Given the description of an element on the screen output the (x, y) to click on. 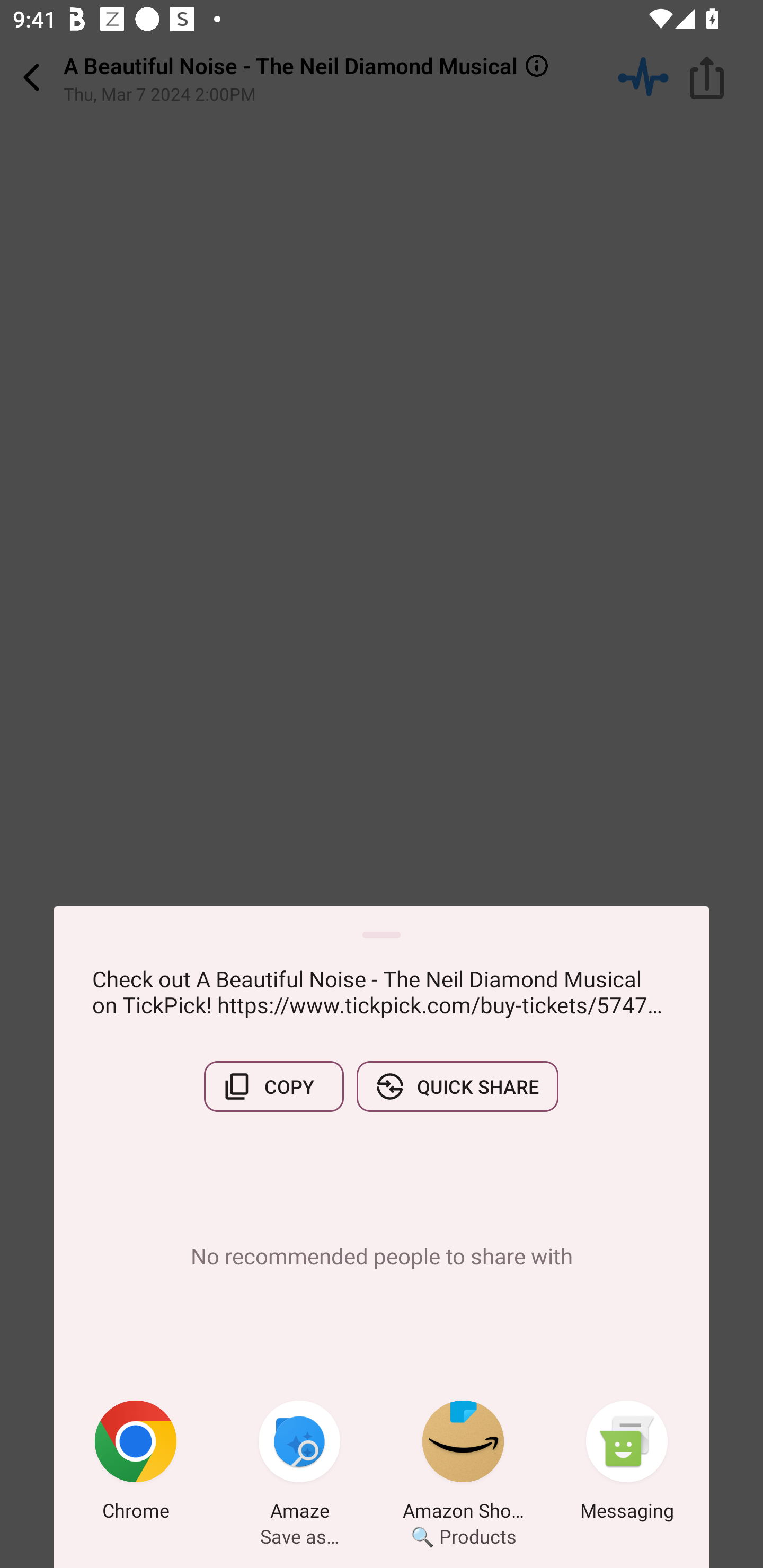
COPY (273, 1086)
QUICK SHARE (457, 1086)
Chrome (135, 1463)
Amaze Save as… (299, 1463)
Amazon Shopping 🔍 Products (463, 1463)
Messaging (626, 1463)
